Given the description of an element on the screen output the (x, y) to click on. 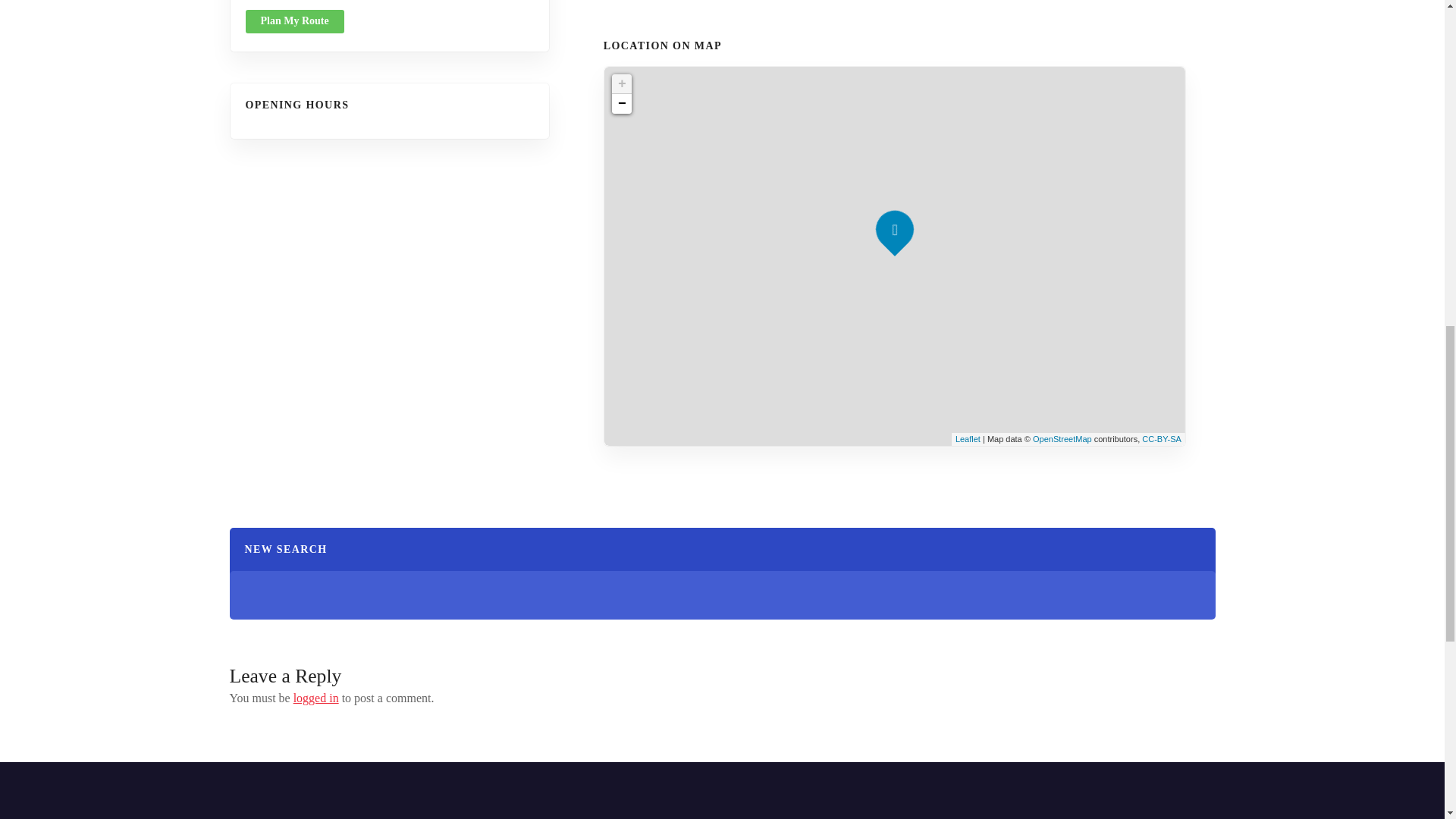
Leaflet (967, 438)
Plan My Route (294, 20)
CC-BY-SA (1160, 438)
logged in (316, 697)
A JS library for interactive maps (967, 438)
Zoom in (621, 84)
Zoom out (621, 103)
OpenStreetMap (1062, 438)
